Given the description of an element on the screen output the (x, y) to click on. 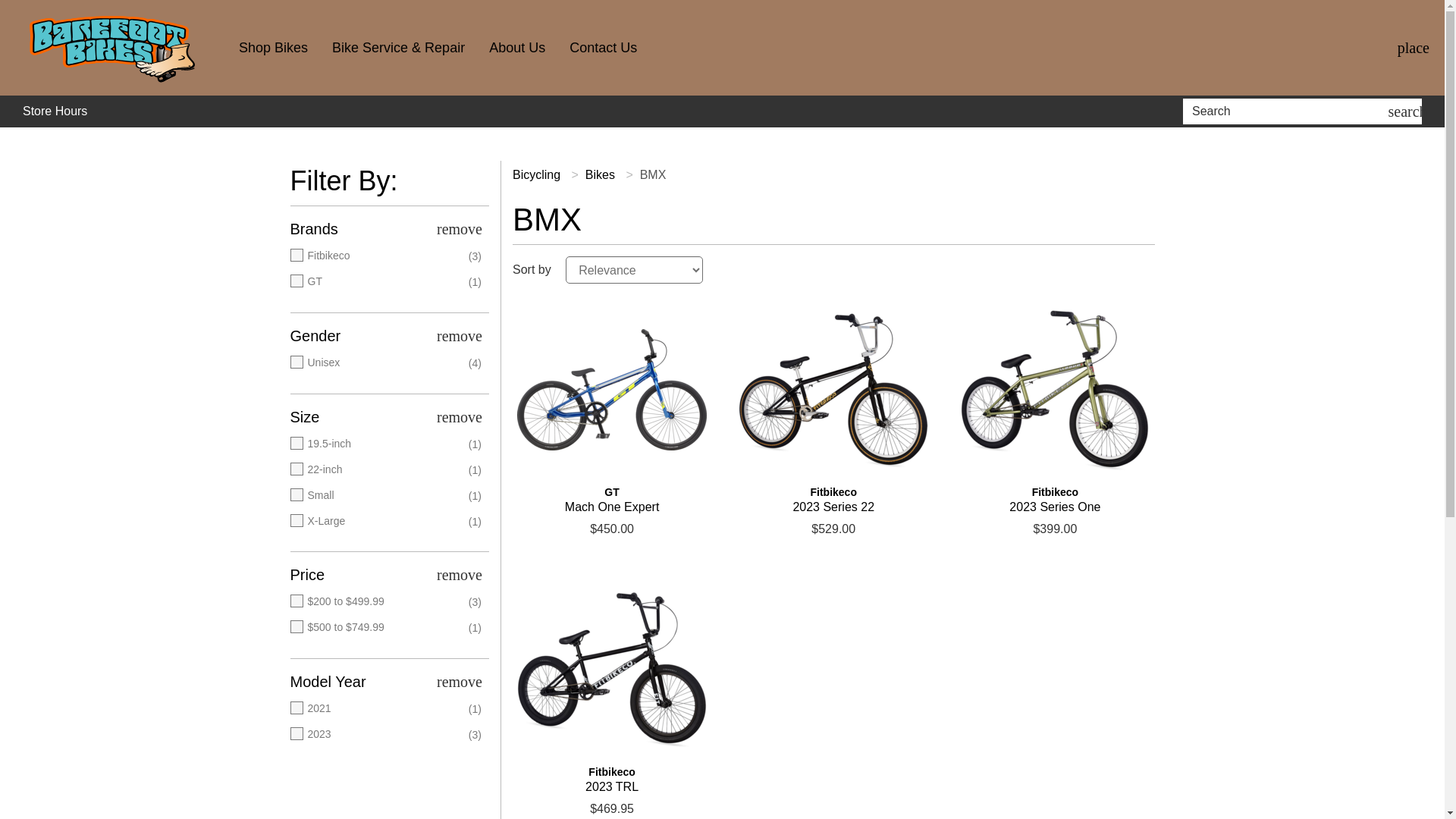
GT Mach One Expert (611, 389)
Gender (386, 336)
Contact Us (602, 47)
Store Hours (55, 111)
Barefoot Bikes Home Page (114, 47)
Search (1287, 111)
Fitbikeco 2023 TRL (611, 669)
GT Mach One Expert (611, 499)
Store Hours (55, 111)
Fitbikeco 2023 Series One (1054, 499)
Size (386, 417)
Search (1407, 111)
Brands (386, 228)
Fitbikeco 2023 Series 22 (833, 389)
Price (386, 574)
